Given the description of an element on the screen output the (x, y) to click on. 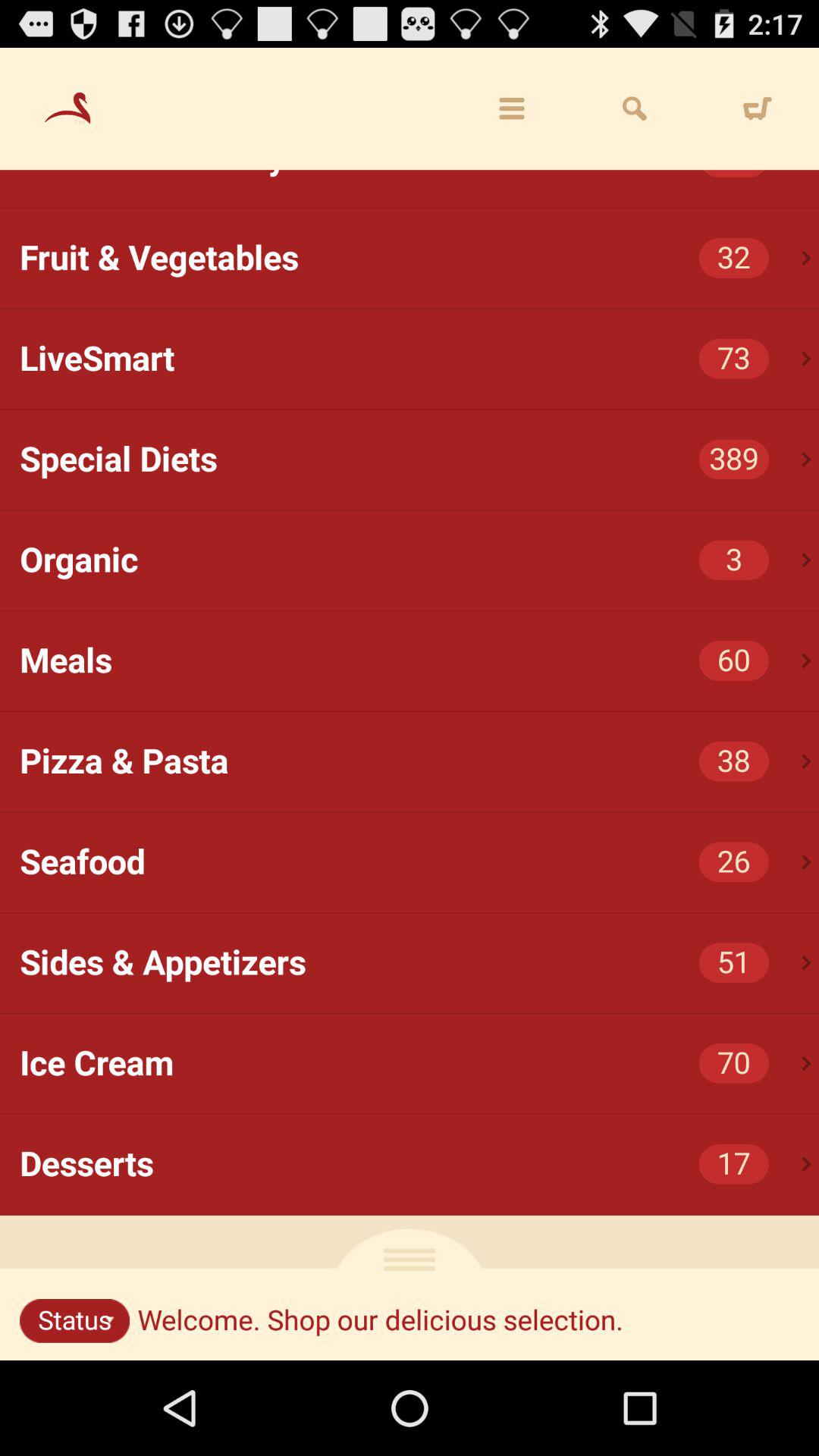
flip to the 70 icon (733, 1063)
